Given the description of an element on the screen output the (x, y) to click on. 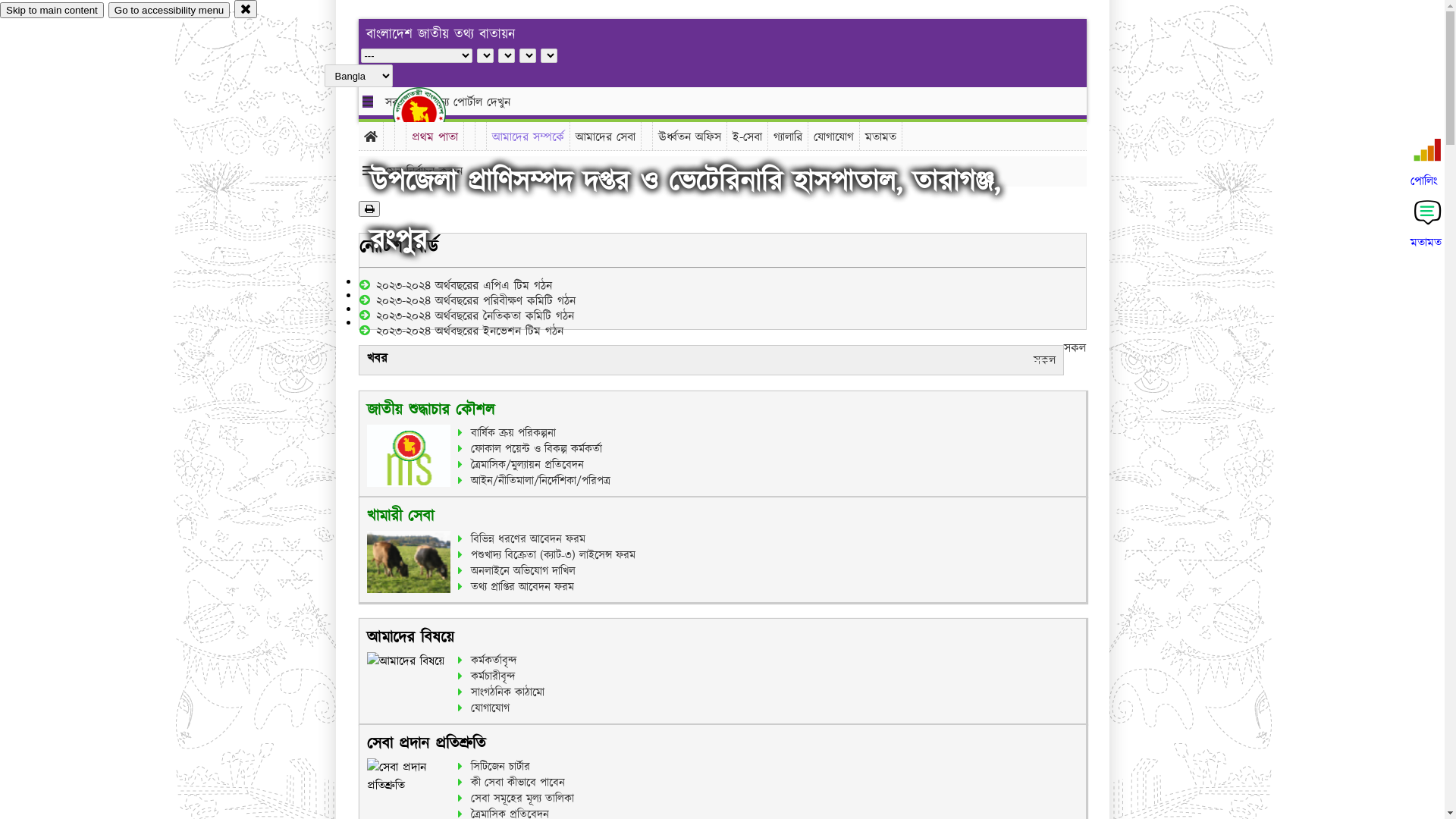
Skip to main content Element type: text (51, 10)
Go to accessibility menu Element type: text (168, 10)

                
             Element type: hover (431, 112)
close Element type: hover (245, 9)
